Given the description of an element on the screen output the (x, y) to click on. 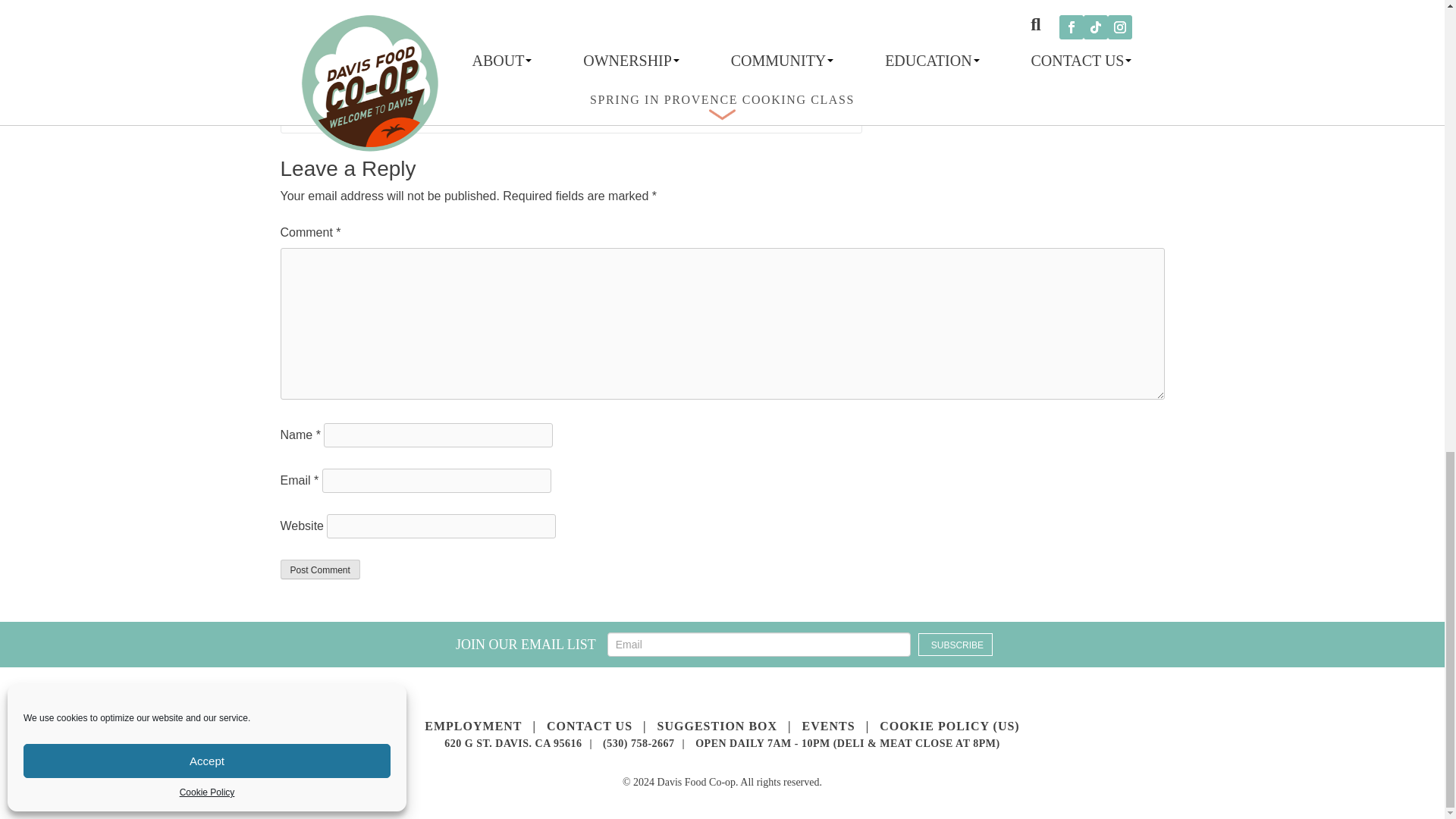
Post Comment (320, 569)
